Given the description of an element on the screen output the (x, y) to click on. 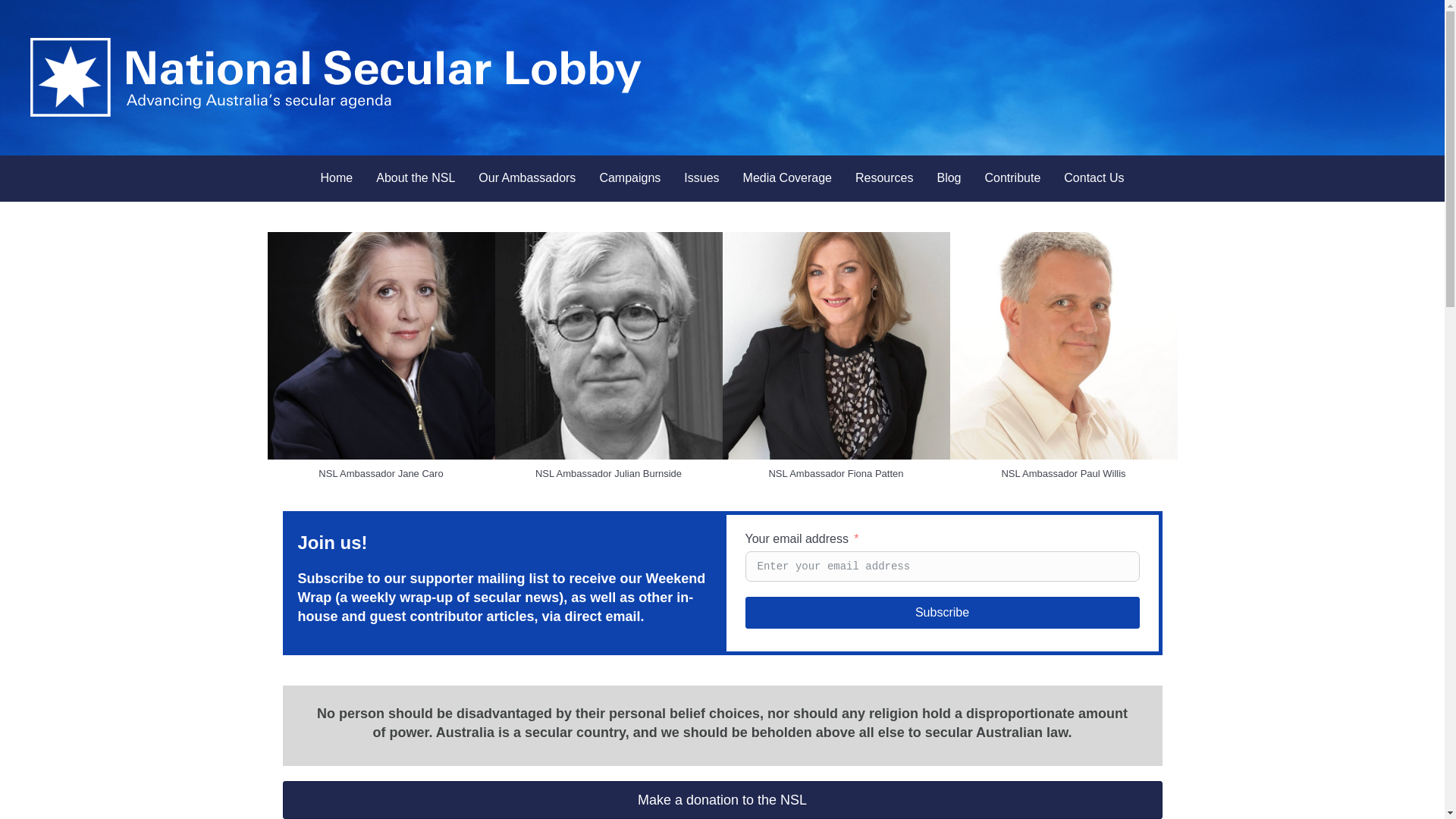
National Secular Lobby Element type: hover (337, 77)
Campaigns Element type: text (629, 178)
Issues Element type: text (701, 178)
Blog Element type: text (948, 178)
Resources Element type: text (884, 178)
Paul Willis Element type: hover (1062, 345)
About the NSL Element type: text (415, 178)
Media Coverage Element type: text (787, 178)
Julian Burnside Element type: hover (607, 345)
Our Ambassadors Element type: text (526, 178)
Fiona Patten Element type: hover (835, 345)
Home Element type: text (336, 178)
Subscribe Element type: text (941, 612)
Contribute Element type: text (1011, 178)
Contact Us Element type: text (1093, 178)
Jane Caro Element type: hover (380, 345)
